Given the description of an element on the screen output the (x, y) to click on. 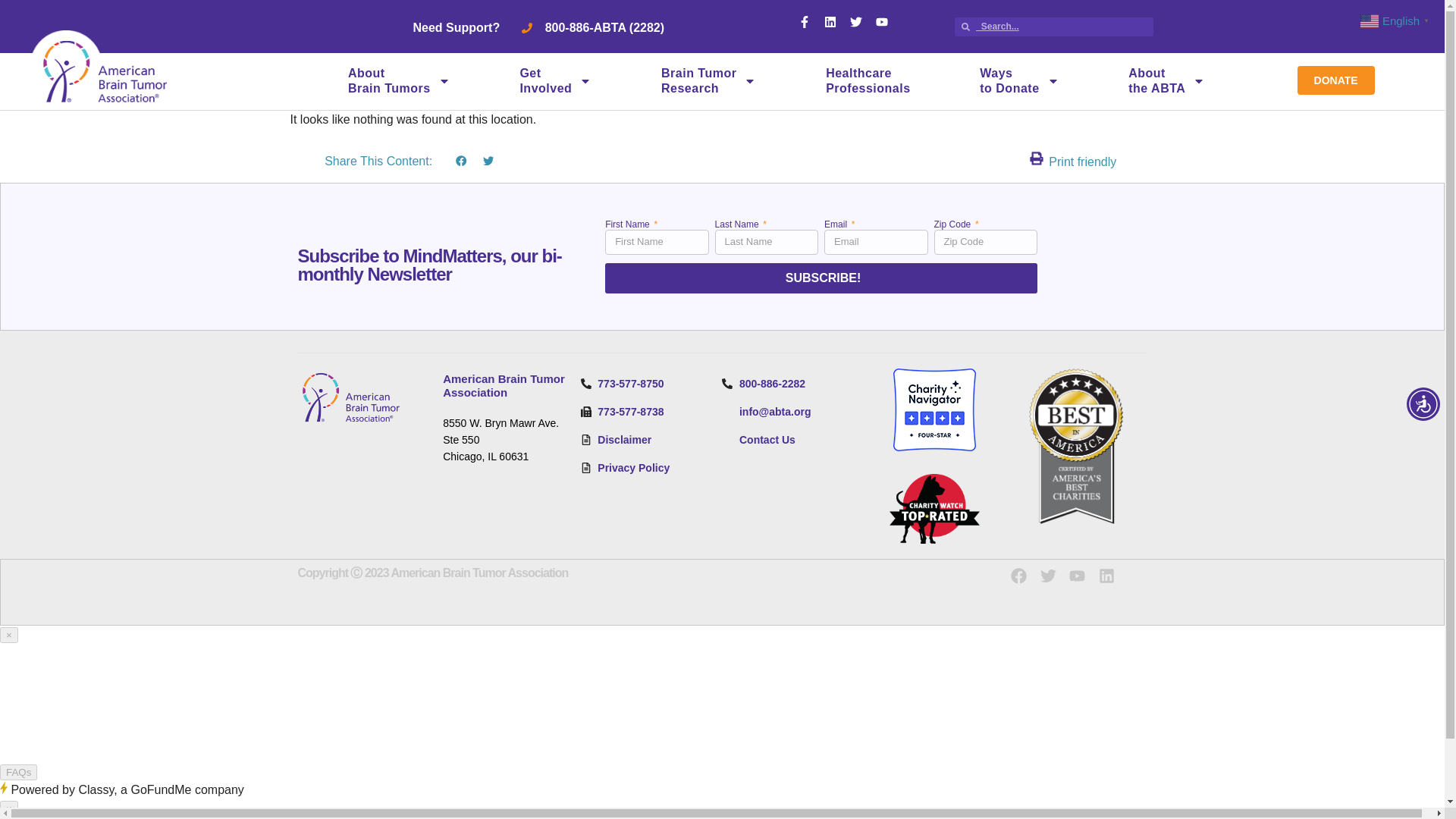
Accessibility Menu (1422, 403)
